Given the description of an element on the screen output the (x, y) to click on. 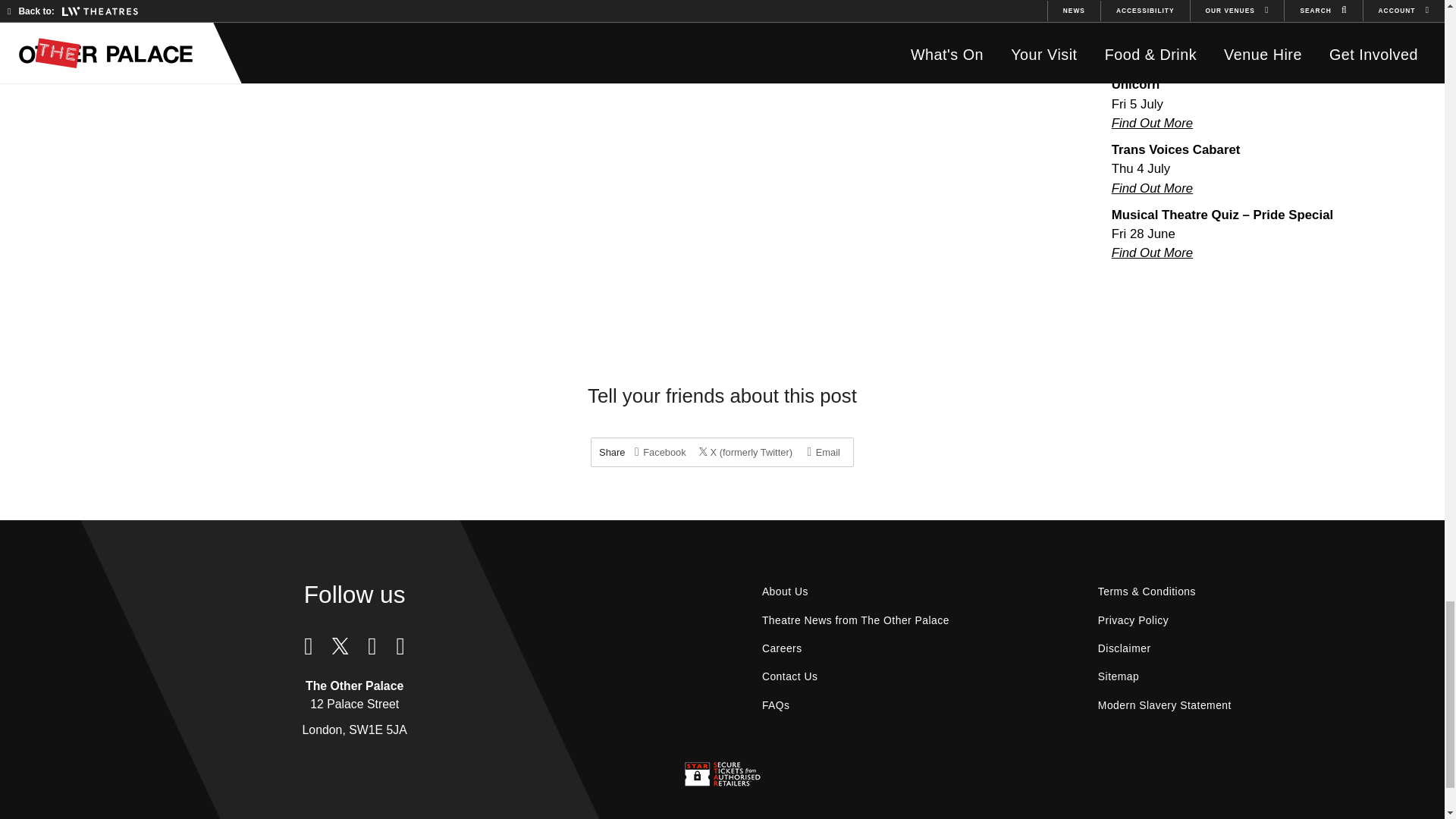
Find Out More (1152, 57)
Facebook (659, 451)
Email (822, 451)
Find Out More (1152, 252)
Find Out More (1152, 123)
Find Out More (1152, 187)
